Given the description of an element on the screen output the (x, y) to click on. 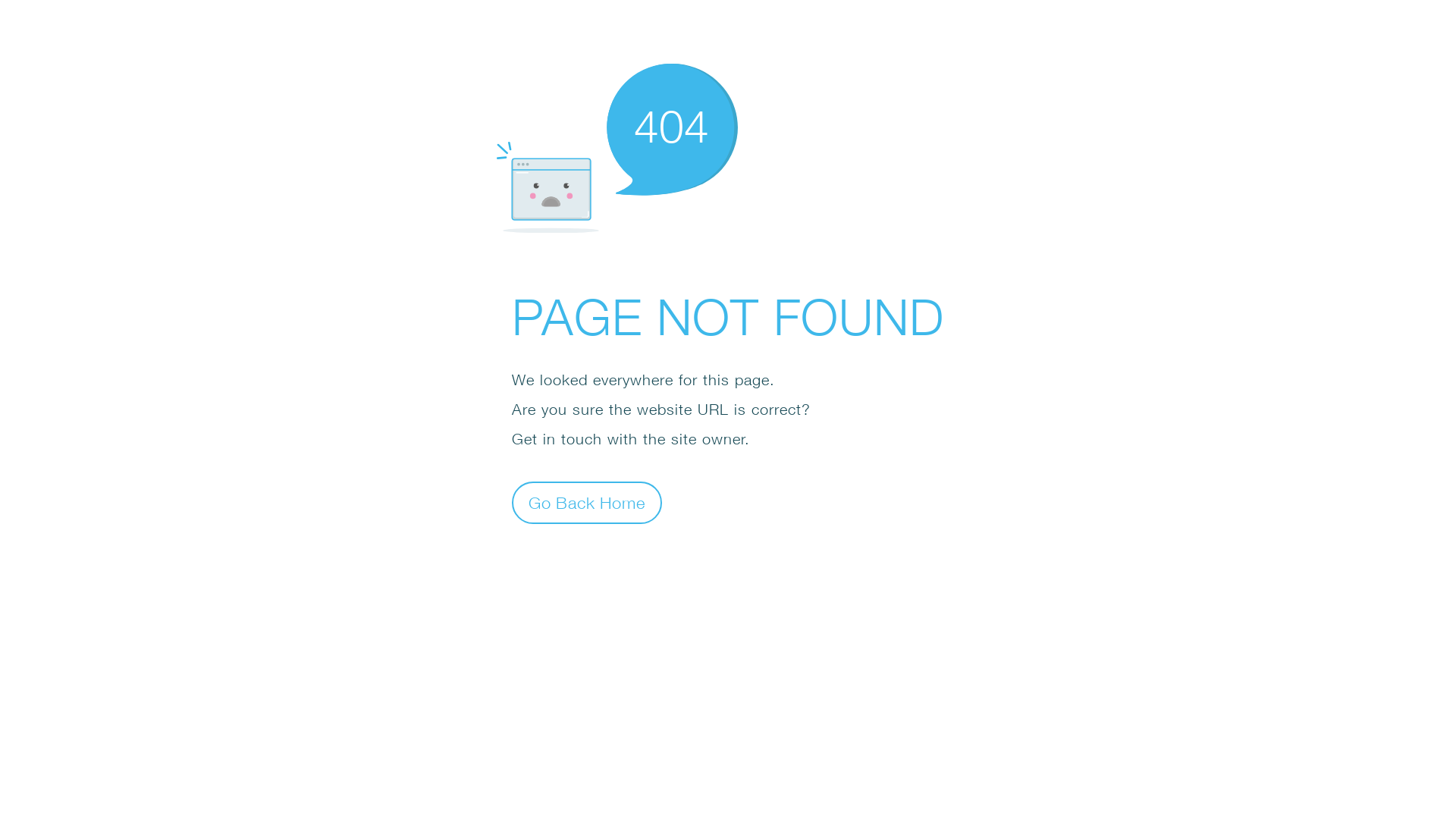
Go Back Home Element type: text (586, 502)
